Given the description of an element on the screen output the (x, y) to click on. 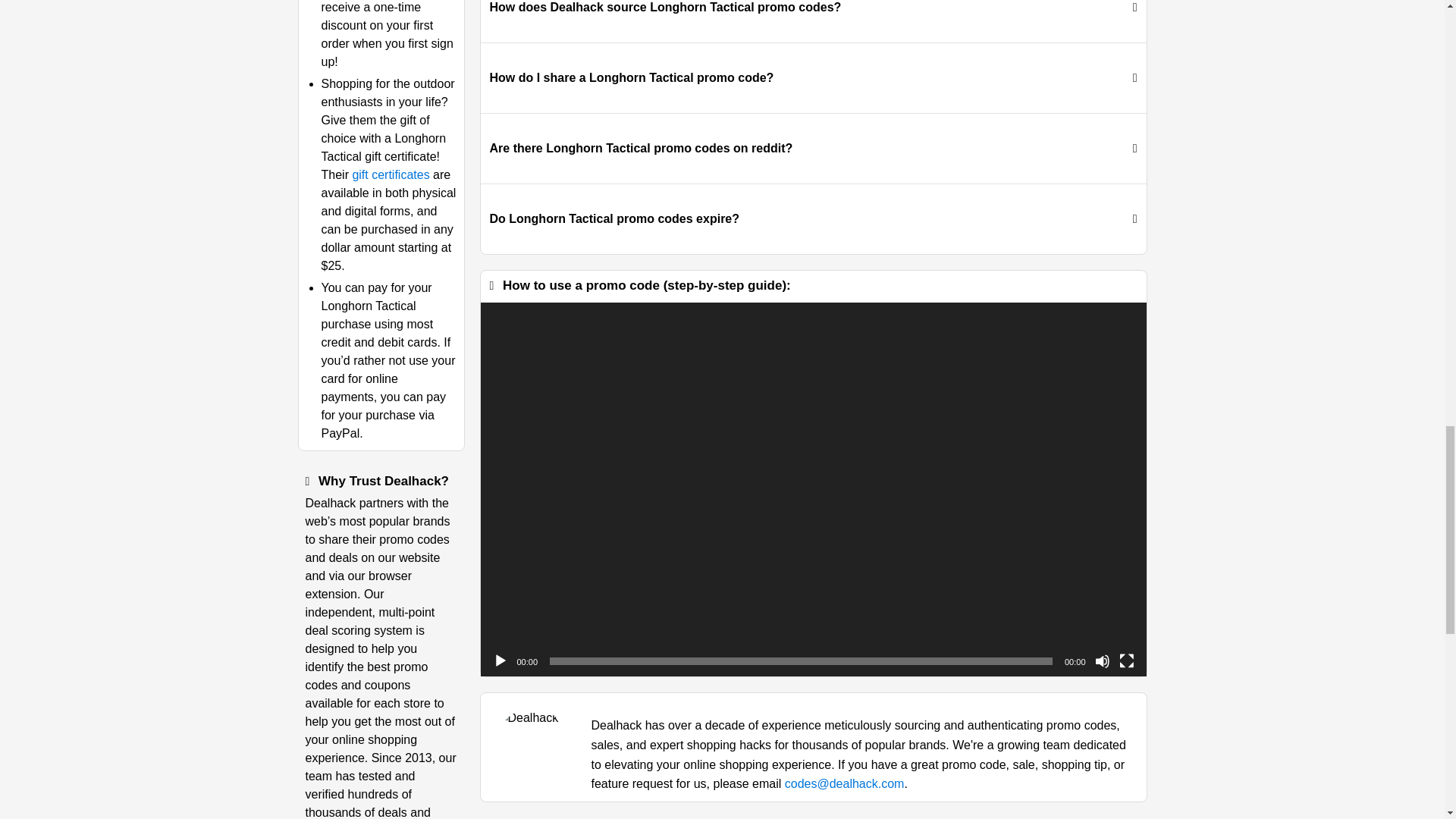
Fullscreen (1126, 661)
Mute (1101, 661)
Play (500, 661)
